Given the description of an element on the screen output the (x, y) to click on. 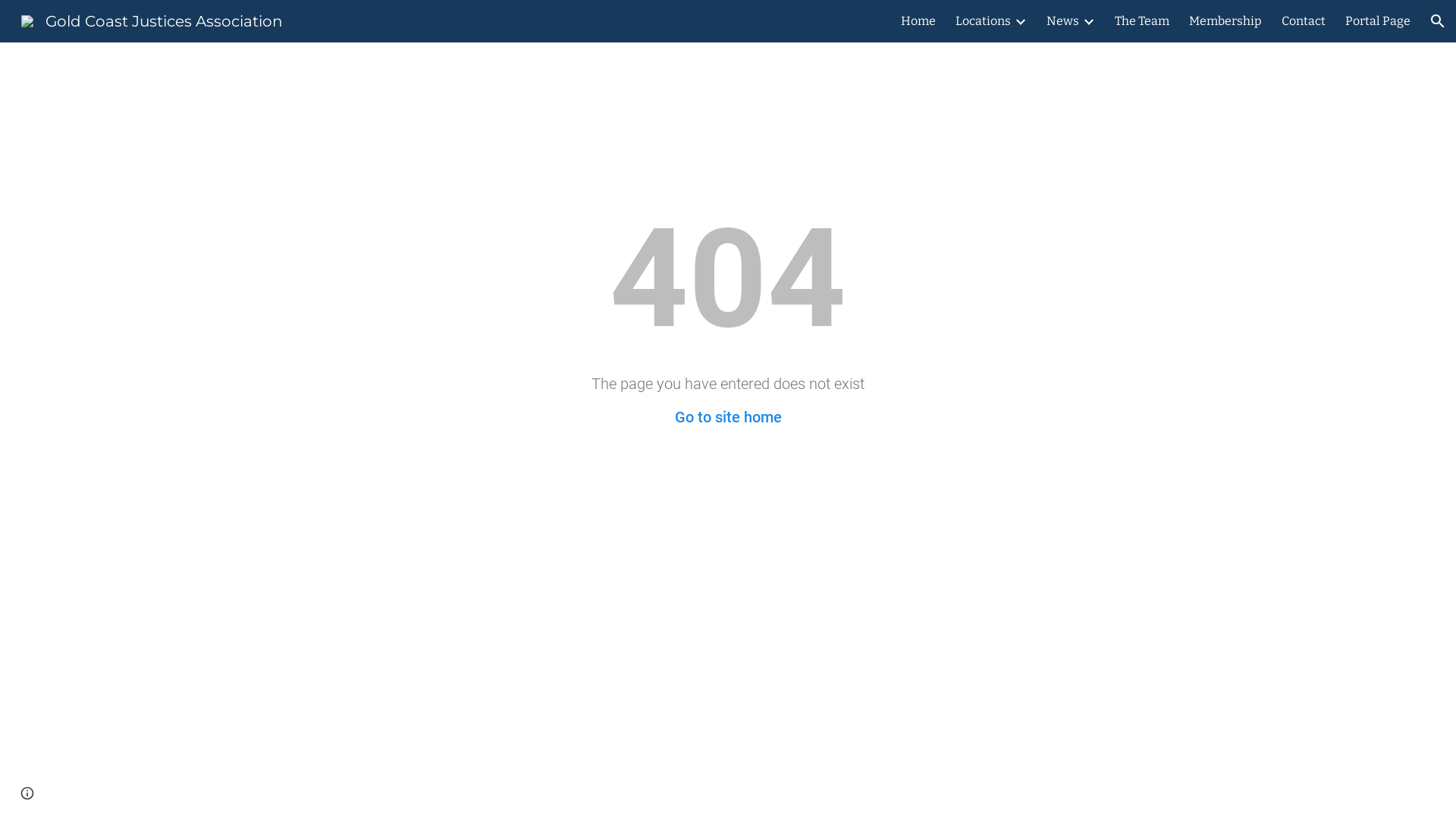
The Team Element type: text (1141, 20)
Home Element type: text (917, 20)
Portal Page Element type: text (1377, 20)
Membership Element type: text (1225, 20)
Contact Element type: text (1303, 20)
Go to site home Element type: text (727, 416)
Expand/Collapse Element type: hover (1019, 20)
News Element type: text (1062, 20)
Locations Element type: text (982, 20)
Expand/Collapse Element type: hover (1088, 20)
Gold Coast Justices Association Element type: text (151, 19)
